Given the description of an element on the screen output the (x, y) to click on. 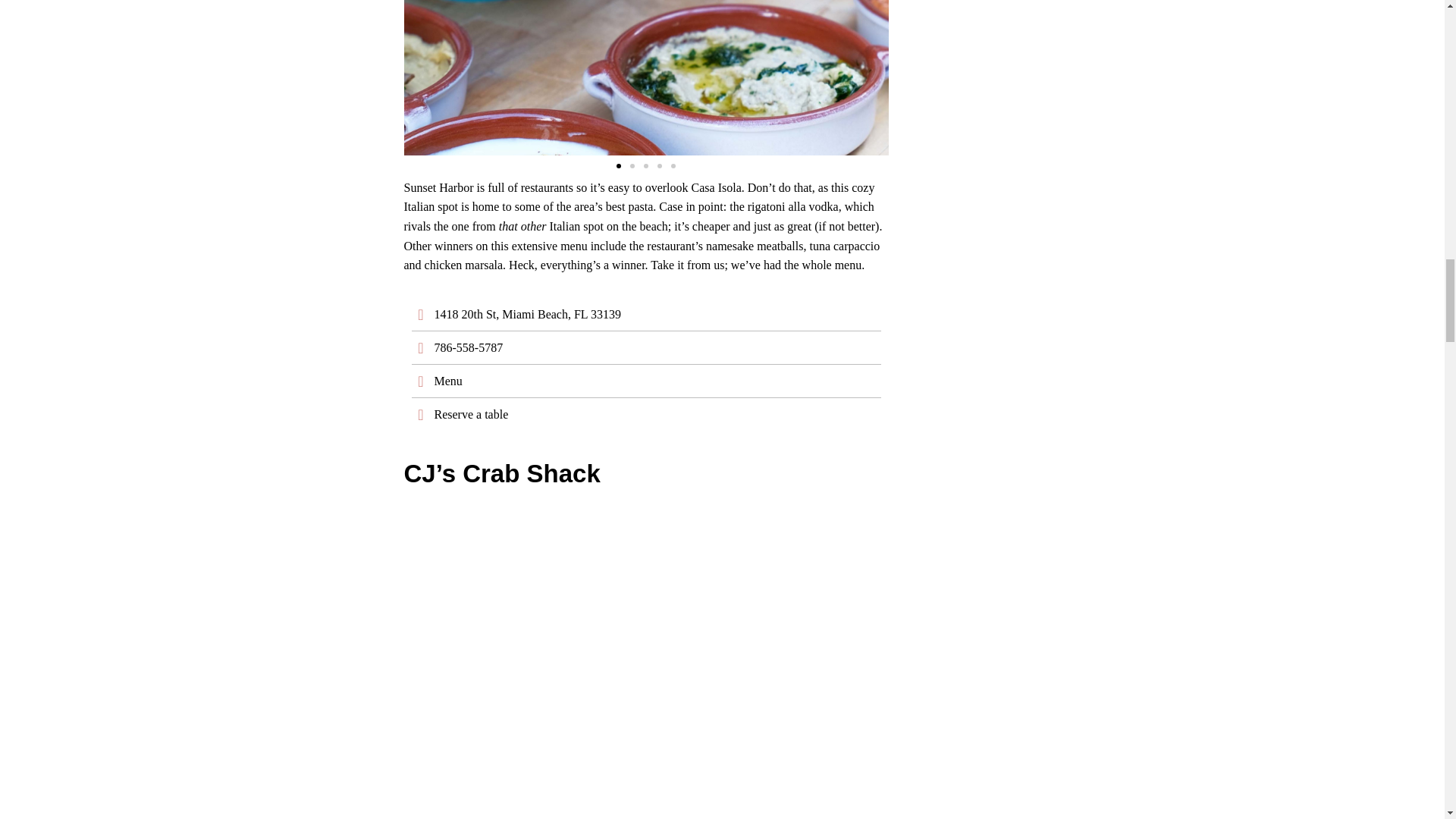
Reserve a table (645, 414)
Menu (645, 381)
786-558-5787 (645, 348)
1418 20th St, Miami Beach, FL 33139 (645, 314)
